Given the description of an element on the screen output the (x, y) to click on. 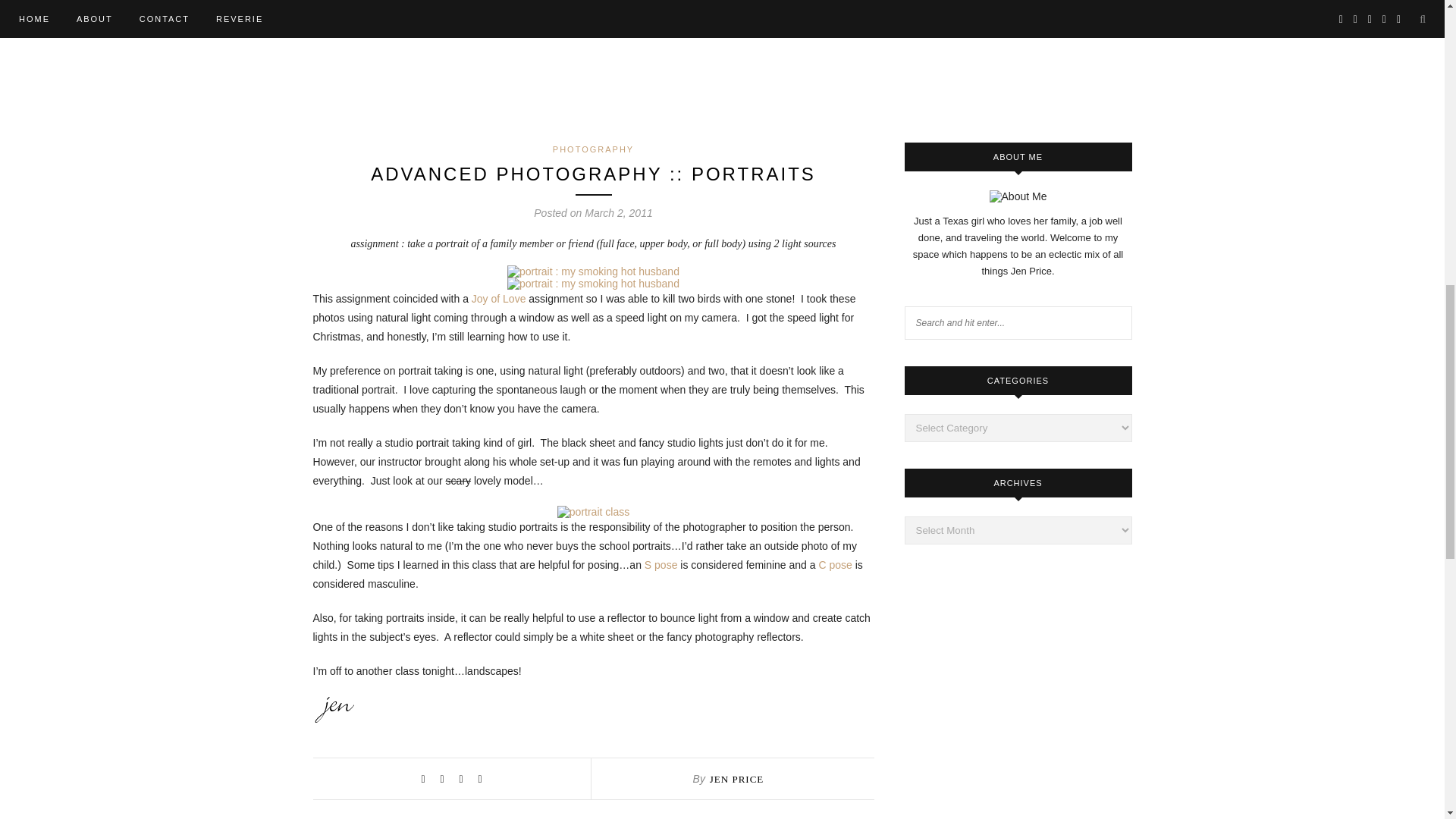
Joy of Love (498, 298)
portrait class by i believe in love, on Flickr (592, 511)
PHOTOGRAPHY (593, 148)
JEN PRICE (736, 778)
C pose (834, 564)
Posts by Jen Price (736, 778)
S pose (661, 564)
